Given the description of an element on the screen output the (x, y) to click on. 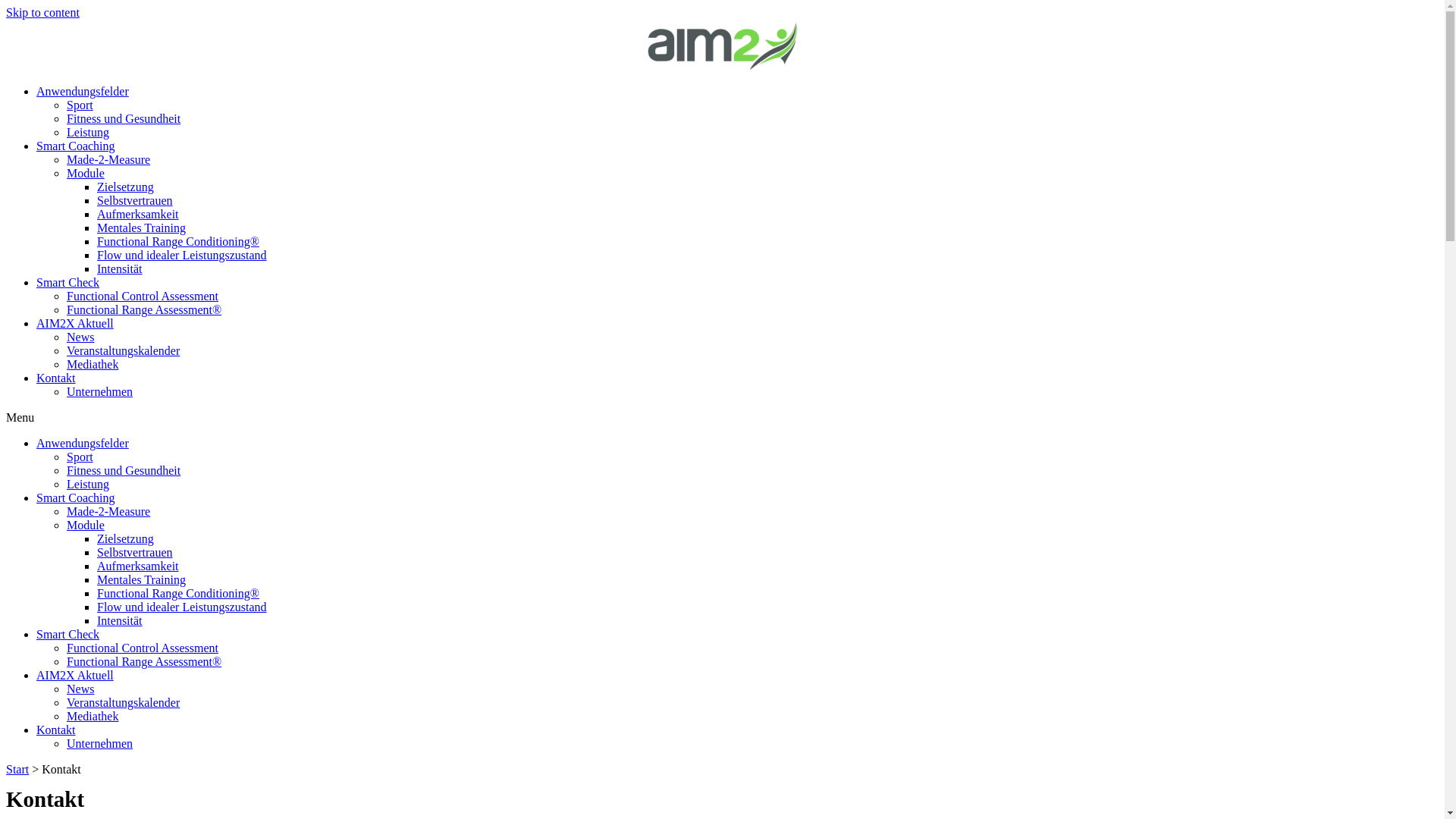
Skip to content Element type: text (42, 12)
Made-2-Measure Element type: text (108, 511)
AIM2X_4.1 (7416C_445C) Element type: hover (722, 45)
Mentales Training Element type: text (141, 227)
Flow und idealer Leistungszustand Element type: text (181, 254)
Unternehmen Element type: text (99, 743)
Functional Control Assessment Element type: text (142, 295)
Mediathek Element type: text (92, 715)
AIM2X Aktuell Element type: text (74, 674)
Flow und idealer Leistungszustand Element type: text (181, 606)
Anwendungsfelder Element type: text (82, 442)
News Element type: text (80, 688)
Kontakt Element type: text (55, 729)
Selbstvertrauen Element type: text (134, 552)
Aufmerksamkeit Element type: text (137, 565)
Smart Coaching Element type: text (75, 497)
Sport Element type: text (79, 104)
Module Element type: text (85, 172)
Leistung Element type: text (87, 483)
Veranstaltungskalender Element type: text (122, 702)
Smart Coaching Element type: text (75, 145)
Mediathek Element type: text (92, 363)
Fitness und Gesundheit Element type: text (123, 118)
Leistung Element type: text (87, 131)
Zielsetzung Element type: text (125, 186)
Functional Control Assessment Element type: text (142, 647)
Start Element type: text (17, 768)
Smart Check Element type: text (67, 282)
Made-2-Measure Element type: text (108, 159)
Smart Check Element type: text (67, 633)
Sport Element type: text (79, 456)
Kontakt Element type: text (55, 377)
Anwendungsfelder Element type: text (82, 90)
Mentales Training Element type: text (141, 579)
Veranstaltungskalender Element type: text (122, 350)
Unternehmen Element type: text (99, 391)
AIM2X Aktuell Element type: text (74, 322)
Zielsetzung Element type: text (125, 538)
News Element type: text (80, 336)
Aufmerksamkeit Element type: text (137, 213)
Selbstvertrauen Element type: text (134, 200)
Fitness und Gesundheit Element type: text (123, 470)
Module Element type: text (85, 524)
